Given the description of an element on the screen output the (x, y) to click on. 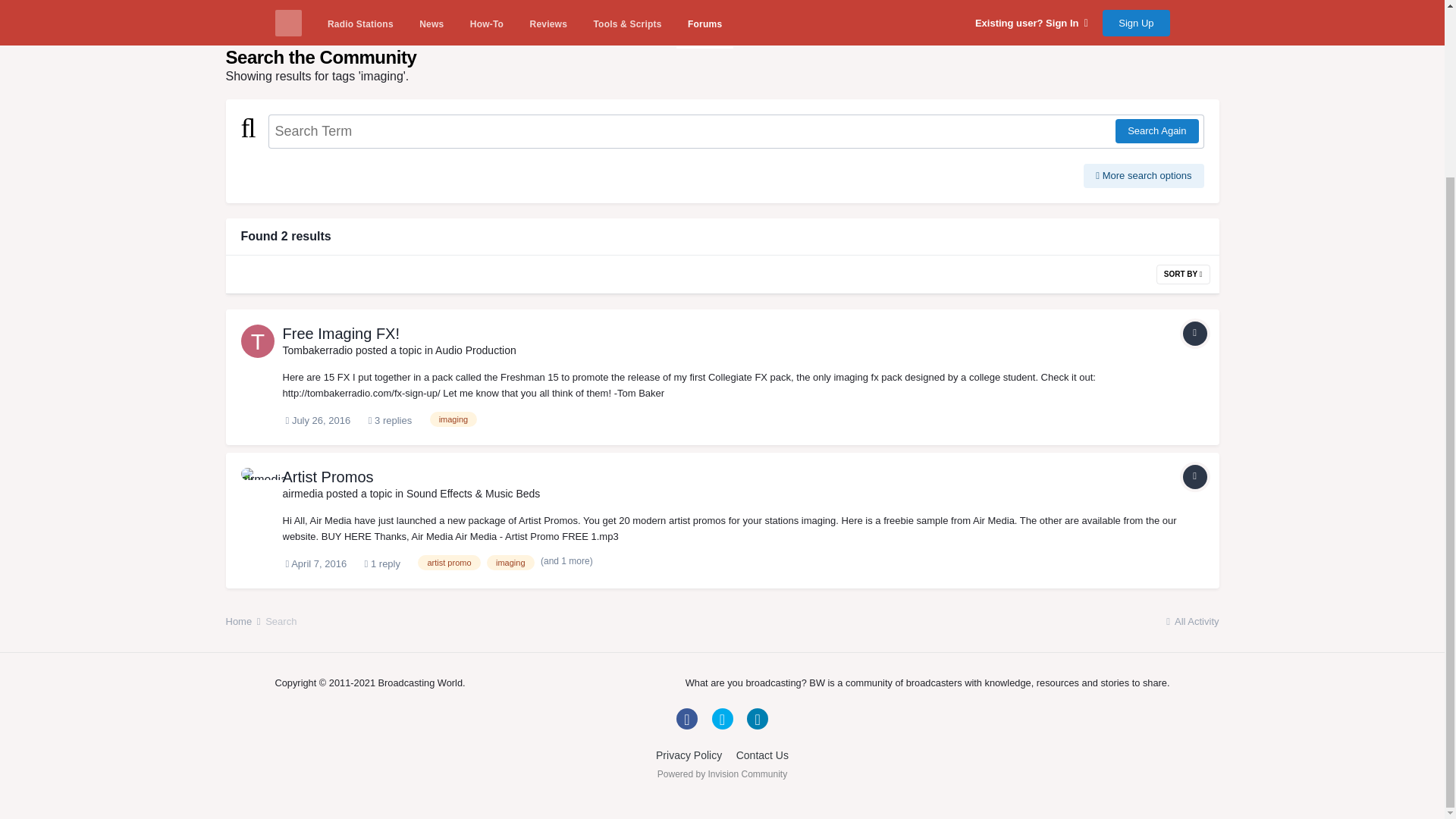
Topic (1194, 333)
Find other content tagged with 'imaging' (453, 418)
Go to Tombakerradio's profile (258, 340)
Search Again (1156, 130)
Go to Tombakerradio's profile (317, 349)
More search options (1143, 175)
Go to airmedia's profile (302, 493)
Go to airmedia's profile (258, 484)
Topic (1194, 476)
Search (280, 16)
All Activity (1190, 16)
Home (244, 16)
Home (244, 16)
